Given the description of an element on the screen output the (x, y) to click on. 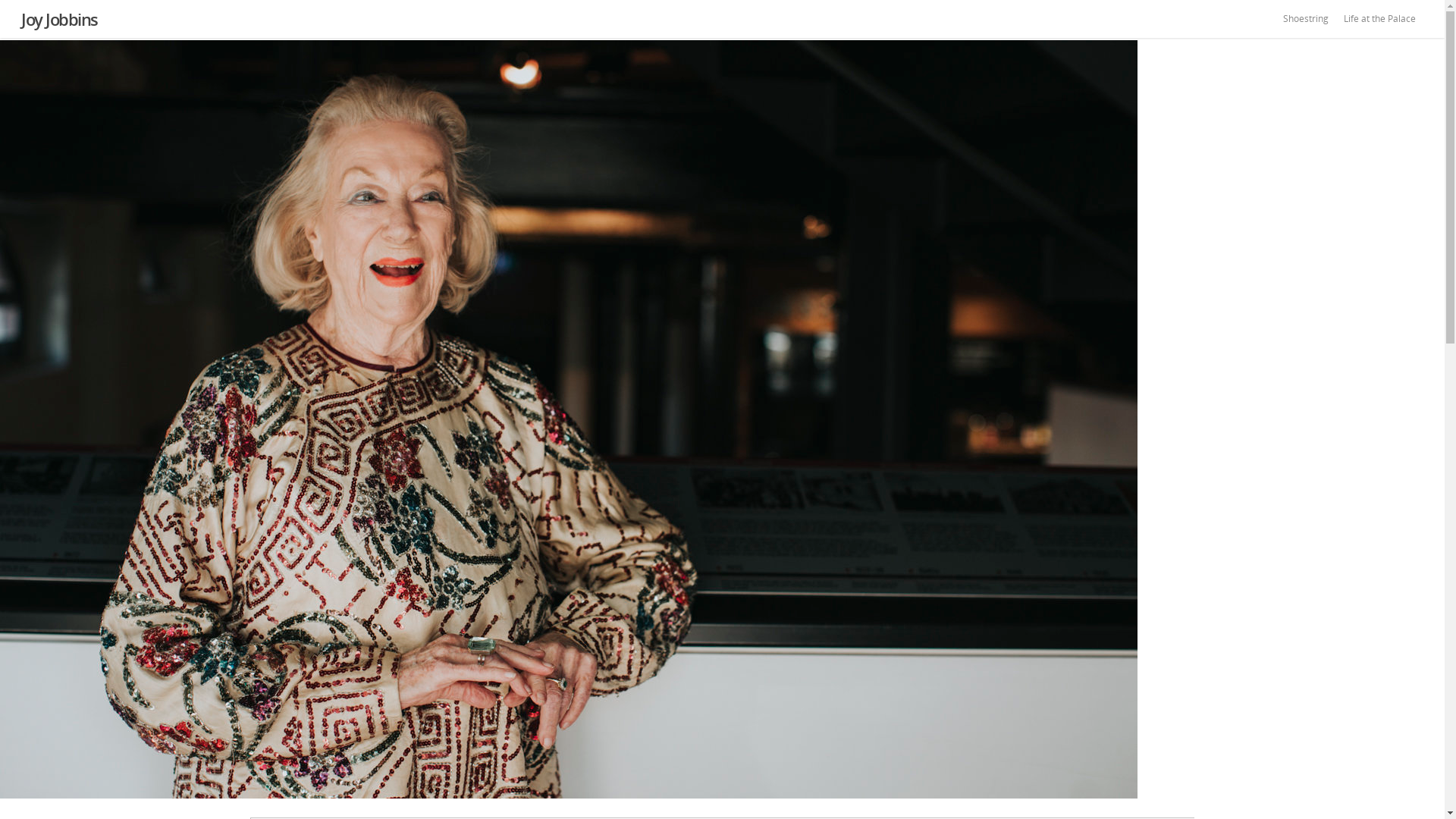
Joy Jobbins Element type: text (59, 18)
Shoestring Element type: text (1305, 22)
Life at the Palace Element type: text (1379, 22)
